Given the description of an element on the screen output the (x, y) to click on. 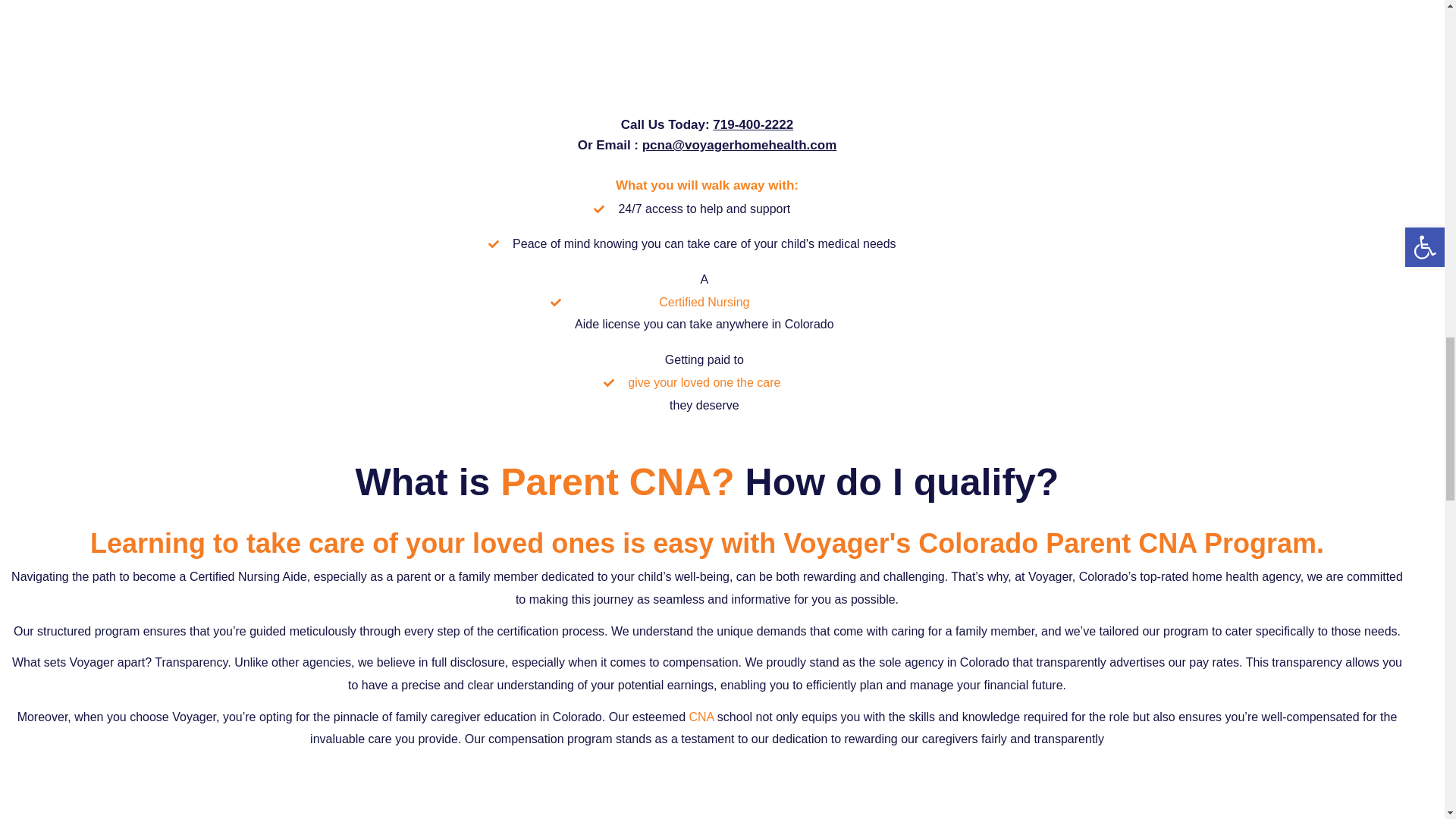
Certified Nursing (704, 302)
Call Us Today: 719-400-2222 (707, 124)
CNA (700, 716)
give your loved one the care (703, 382)
